Given the description of an element on the screen output the (x, y) to click on. 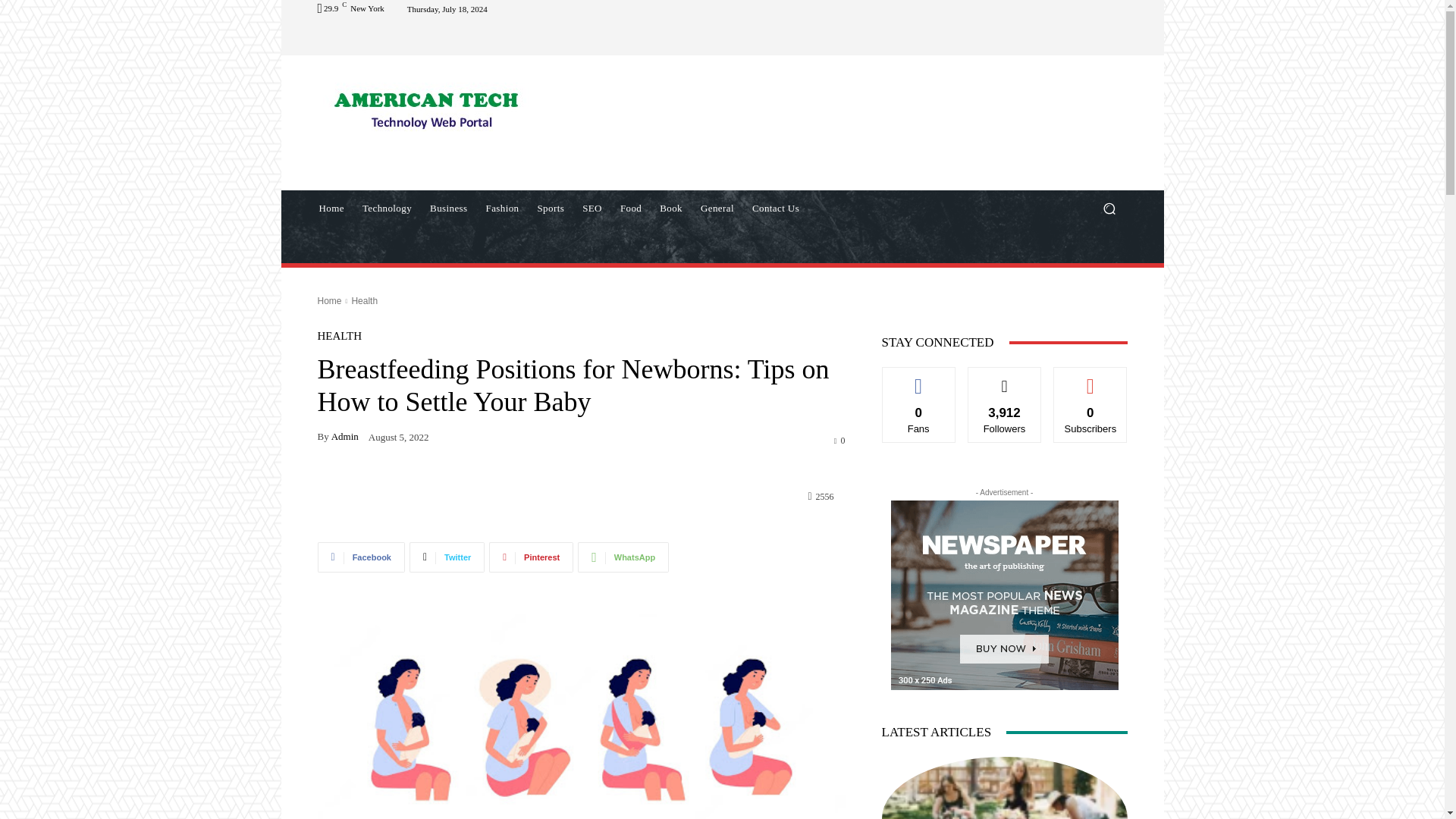
Sports (550, 208)
Pinterest (531, 557)
Technology (386, 208)
Food (630, 208)
General (716, 208)
Home (330, 208)
Home (328, 300)
Facebook (360, 557)
Contact Us (775, 208)
Book (670, 208)
View all posts in Health (363, 300)
Twitter (446, 557)
Fashion (501, 208)
SEO (592, 208)
Business (448, 208)
